Given the description of an element on the screen output the (x, y) to click on. 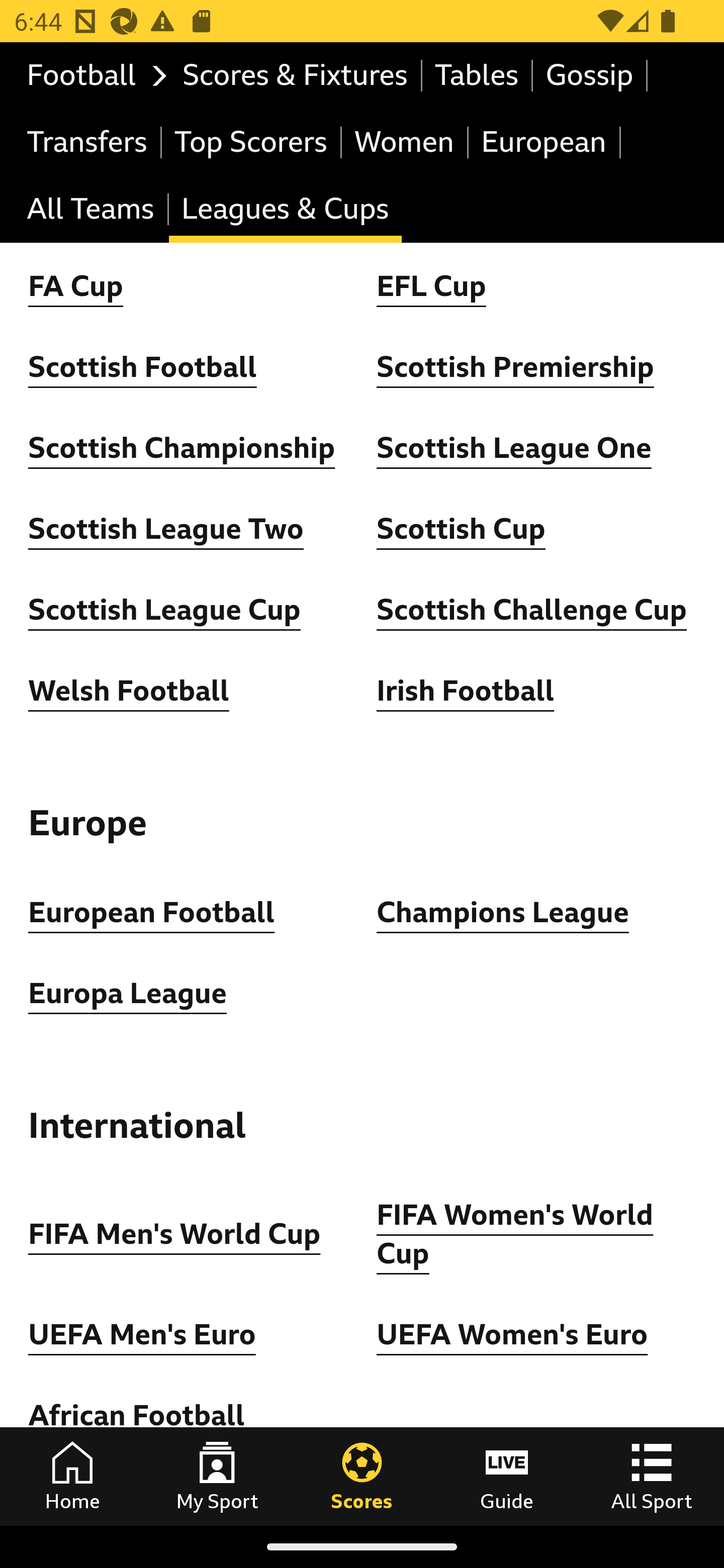
Home (72, 1475)
My Sport (216, 1475)
Guide (506, 1475)
All Sport (651, 1475)
